Given the description of an element on the screen output the (x, y) to click on. 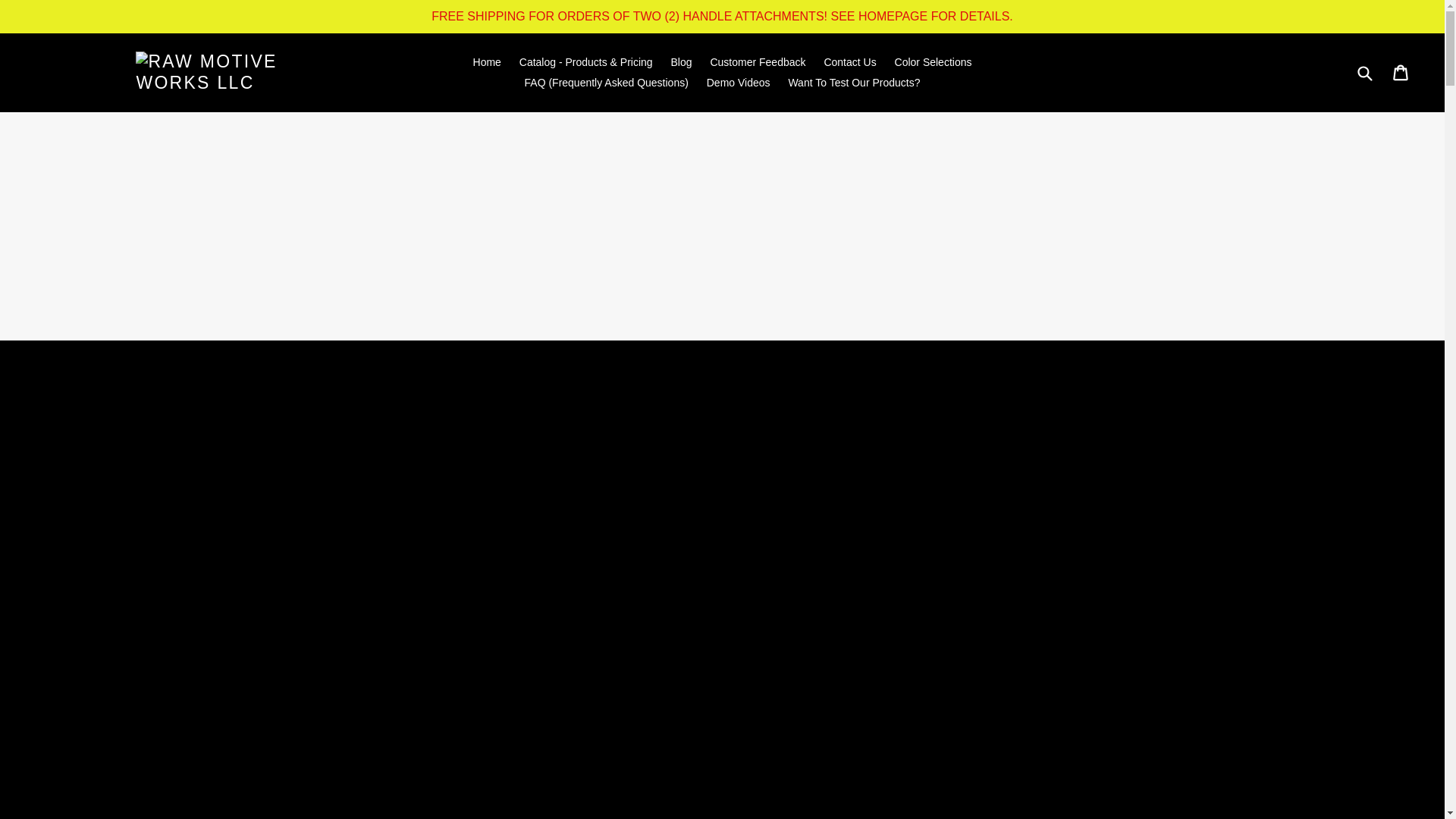
Blog (681, 62)
Want To Test Our Products? (853, 82)
Customer Feedback (756, 62)
Contact Us (849, 62)
Home (486, 62)
Demo Videos (737, 82)
Color Selections (932, 62)
